Given the description of an element on the screen output the (x, y) to click on. 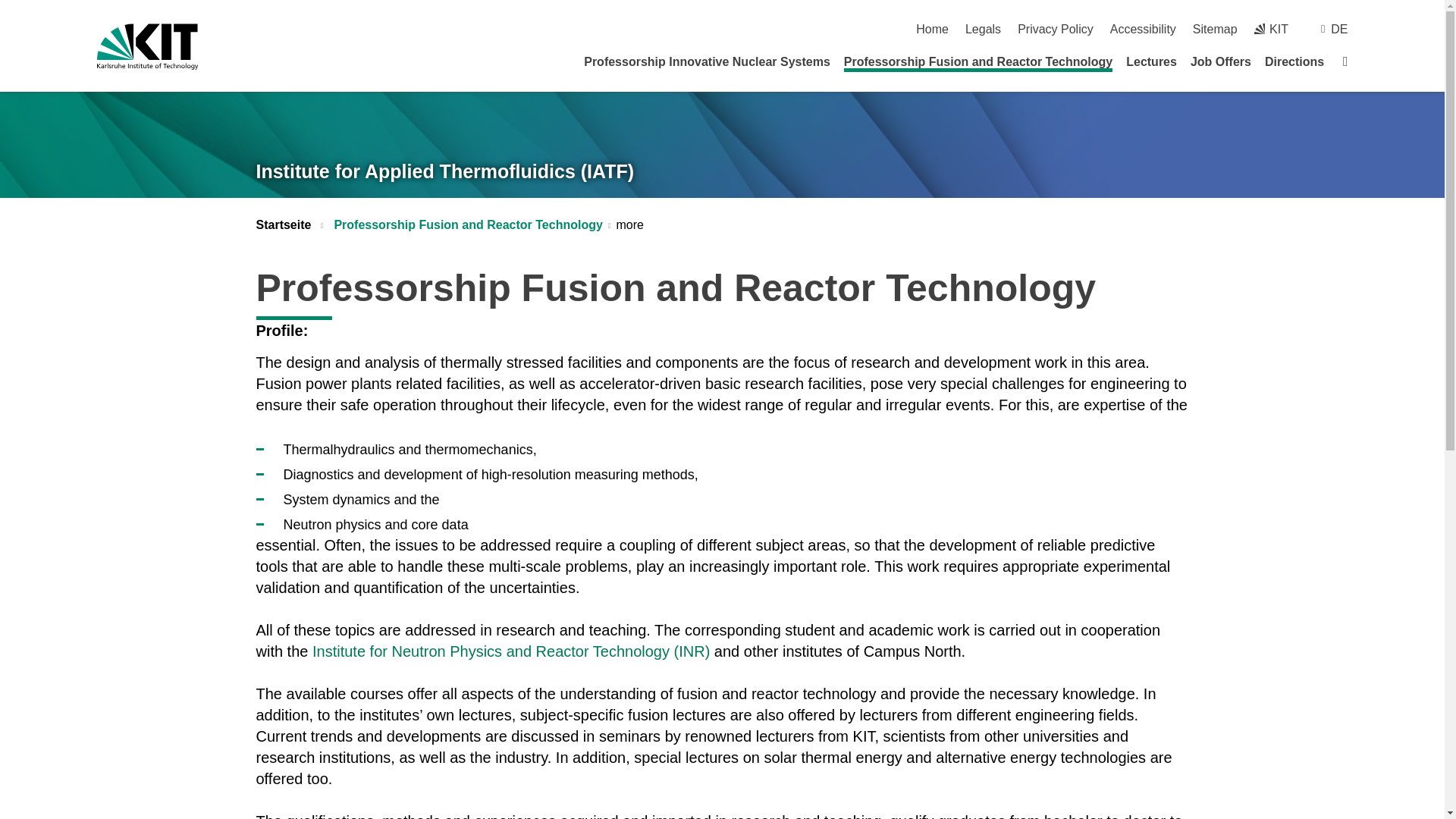
KIT (1270, 29)
Privacy Policy (1055, 29)
KIT-Homepage (147, 46)
Home (932, 29)
Accessibility (1142, 29)
startpage (932, 29)
DE (1339, 29)
Legals (983, 29)
Professorship Innovative Nuclear Systems (706, 61)
Sitemap (1214, 29)
